Given the description of an element on the screen output the (x, y) to click on. 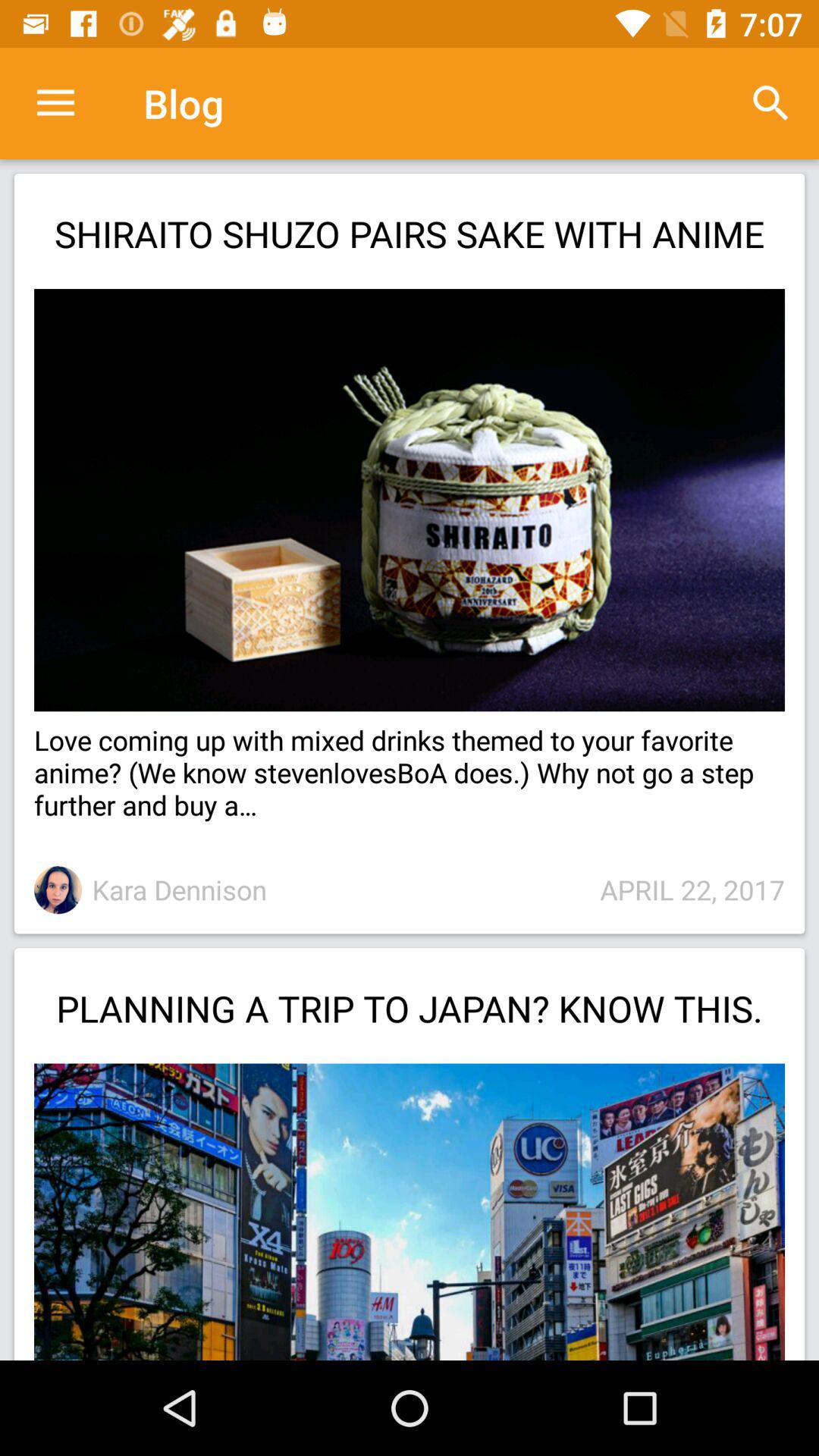
open the app to the left of blog (55, 103)
